Given the description of an element on the screen output the (x, y) to click on. 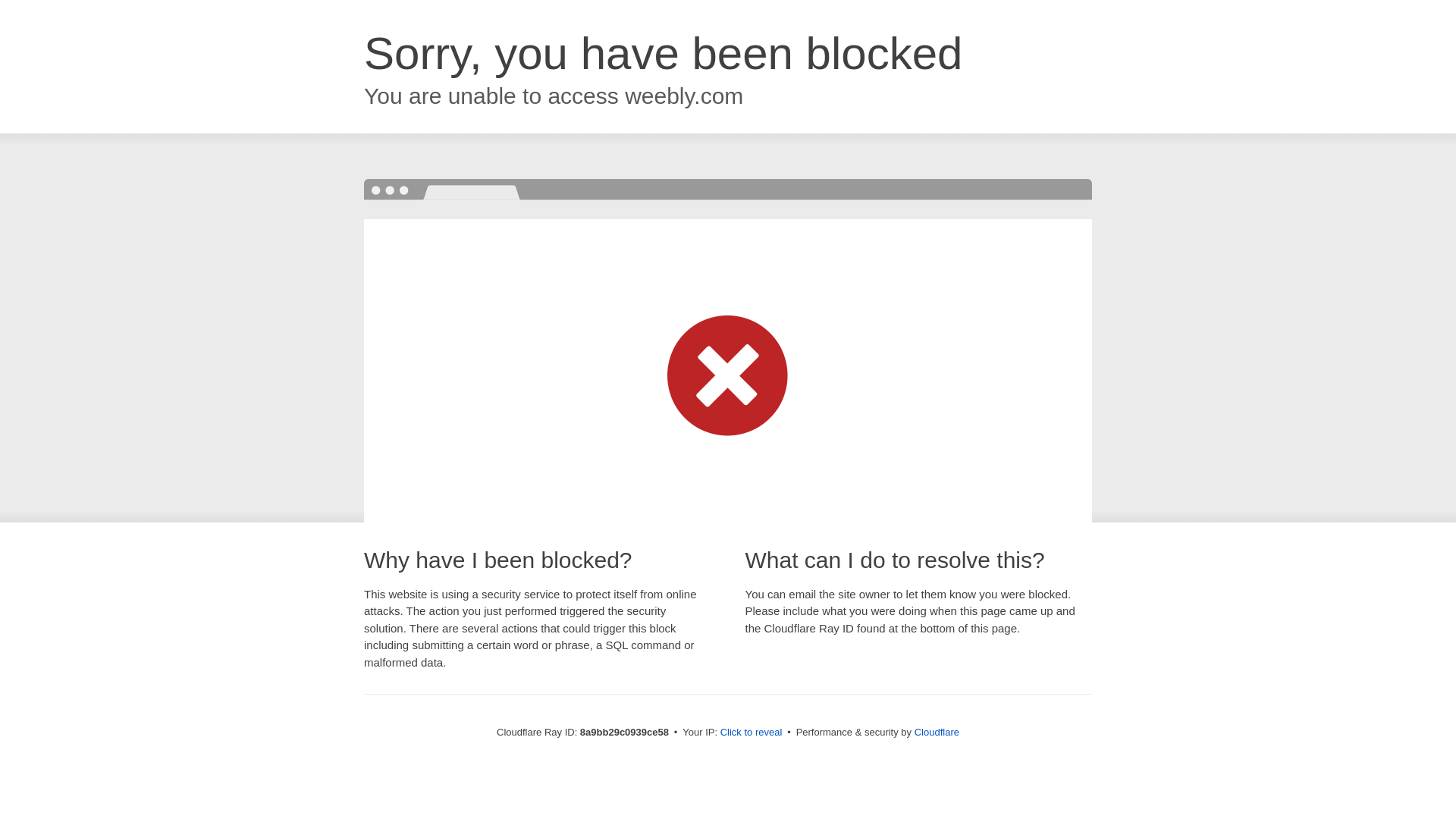
Cloudflare (936, 731)
Click to reveal (751, 732)
